Given the description of an element on the screen output the (x, y) to click on. 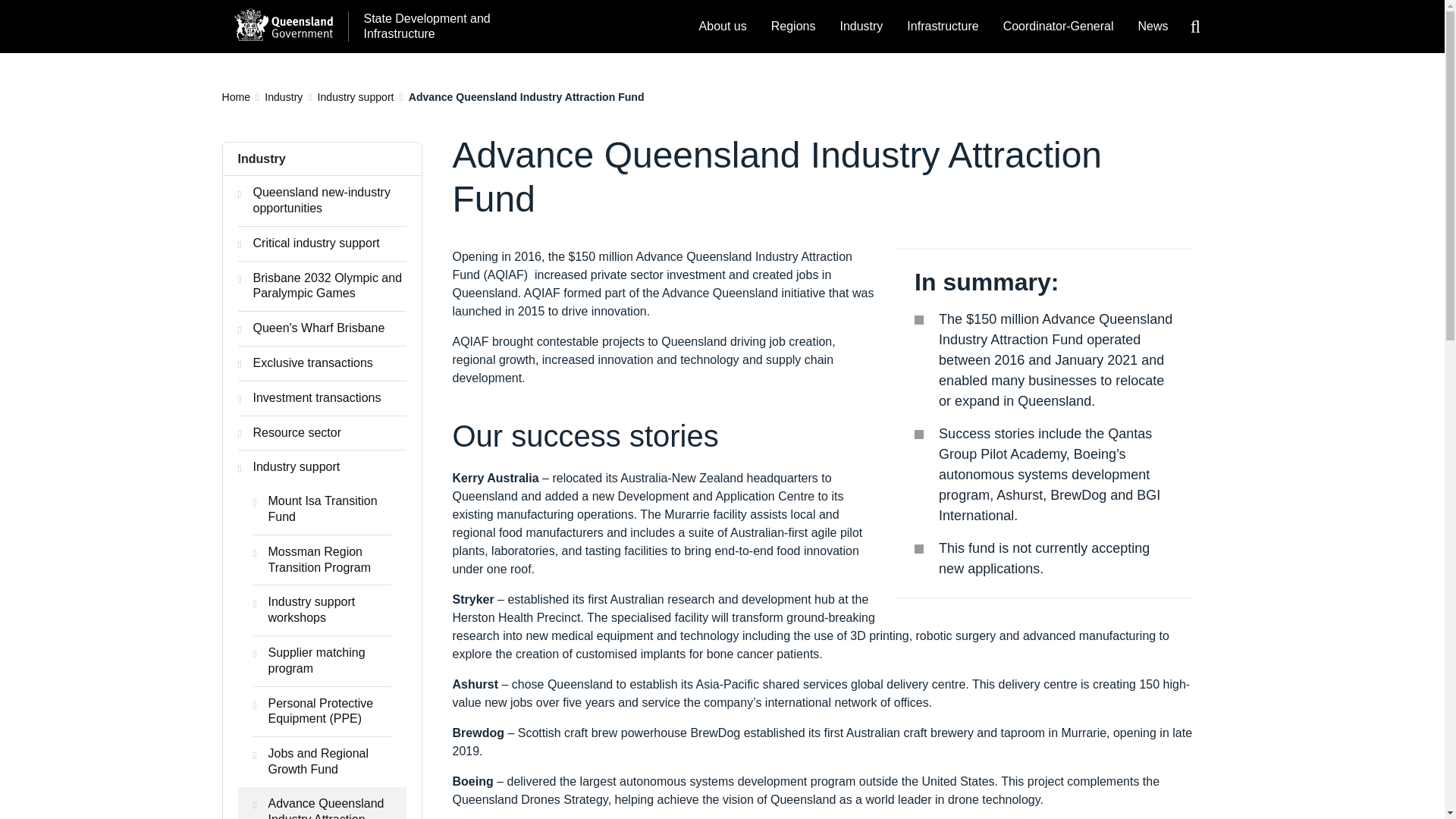
Regions (793, 26)
About us (722, 26)
Queensland Government (281, 24)
Coordinator-General (1058, 26)
Infrastructure (942, 26)
Industry (861, 26)
State Development and Infrastructure (423, 26)
